Given the description of an element on the screen output the (x, y) to click on. 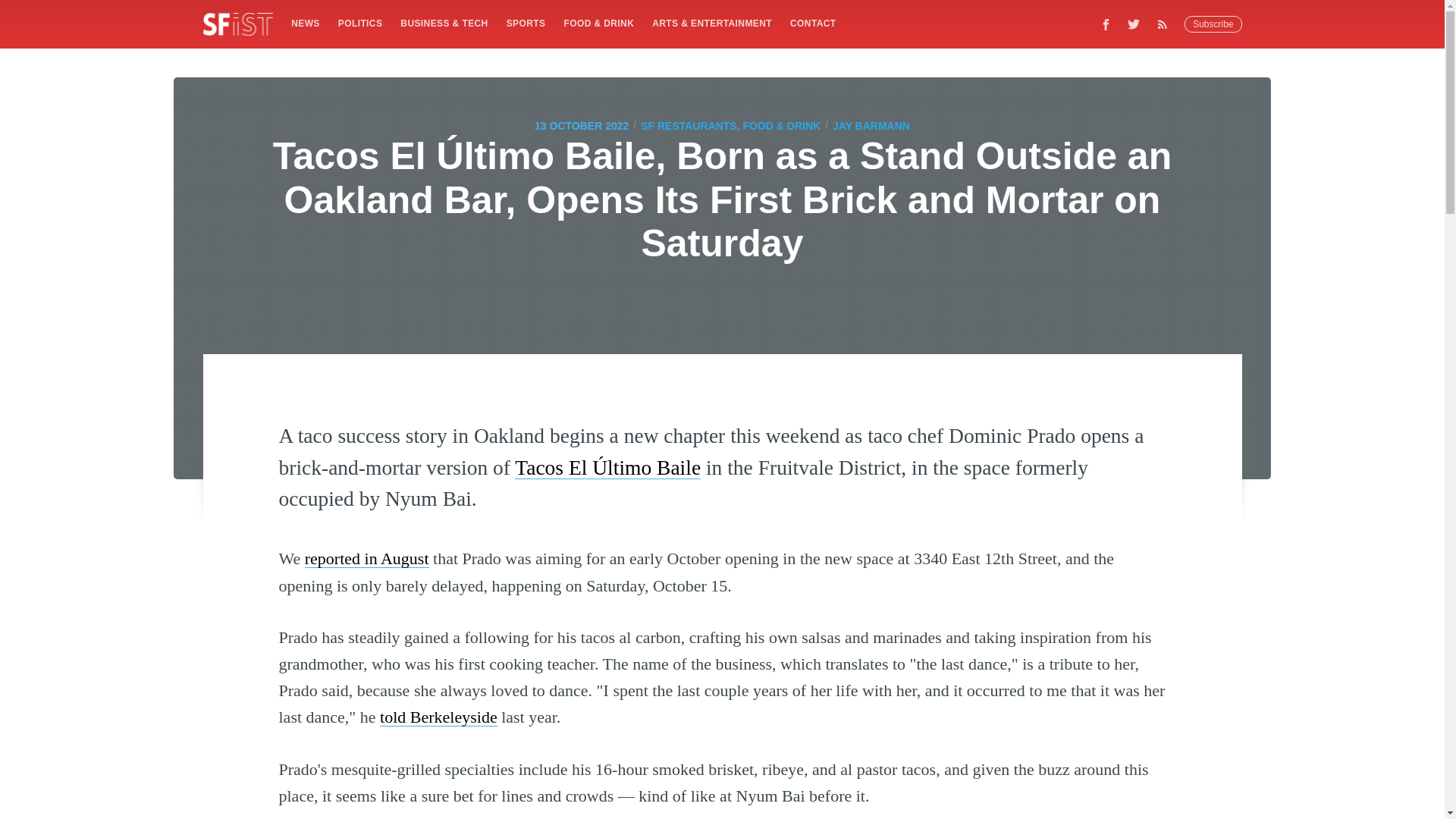
JAY BARMANN (871, 126)
POLITICS (360, 23)
reported in August (366, 558)
Twitter (1133, 23)
told Berkeleyside (438, 716)
CONTACT (812, 23)
Facebook (1106, 23)
NEWS (305, 23)
Subscribe (1213, 23)
RSS (1166, 23)
SPORTS (525, 23)
